Given the description of an element on the screen output the (x, y) to click on. 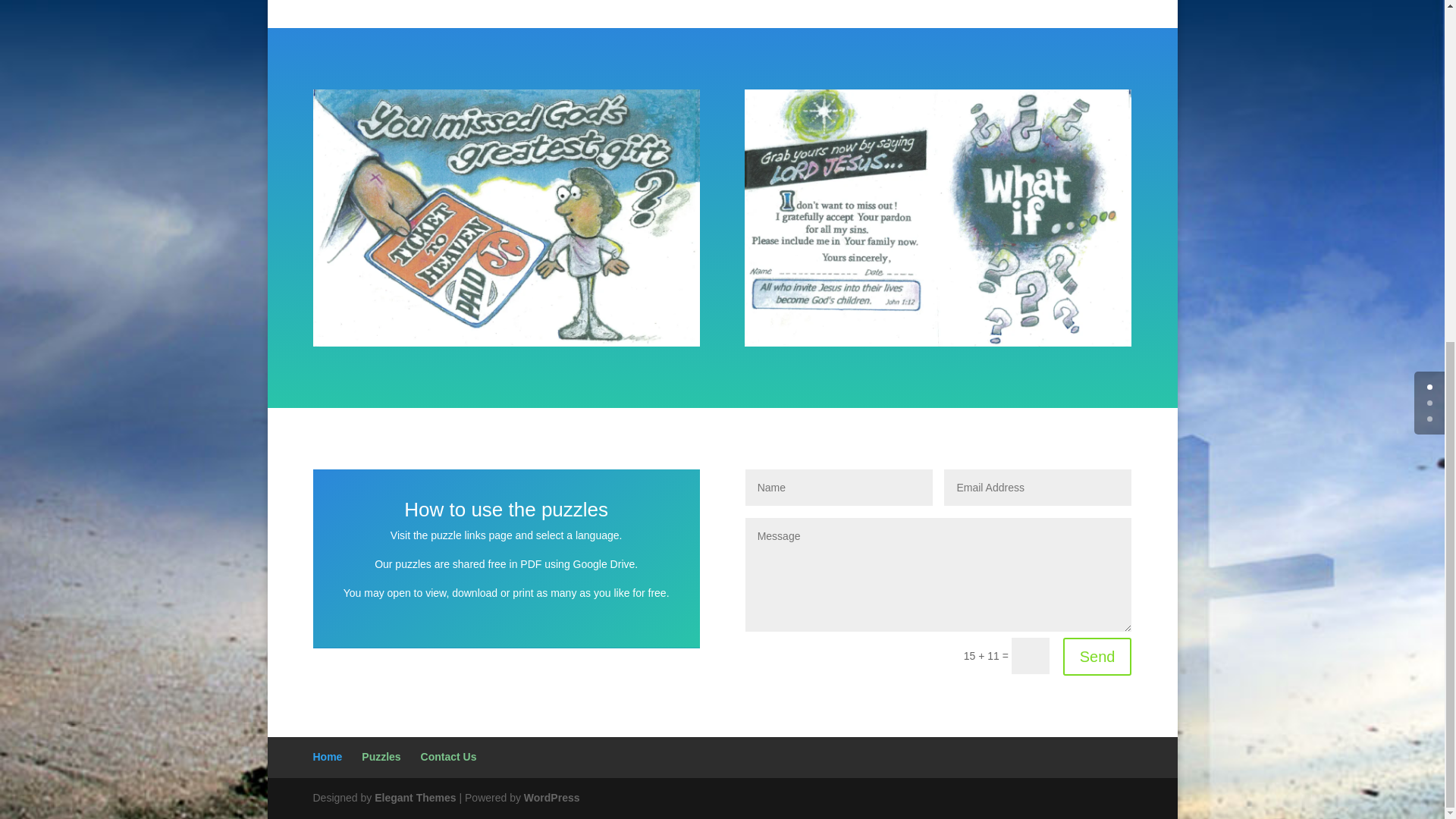
Elegant Themes (414, 797)
WordPress (551, 797)
Puzzles (380, 756)
Contact Us (448, 756)
Send (1097, 656)
Home (327, 756)
gospel tract b (937, 217)
Premium WordPress Themes (414, 797)
gospel tract a (505, 217)
